Given the description of an element on the screen output the (x, y) to click on. 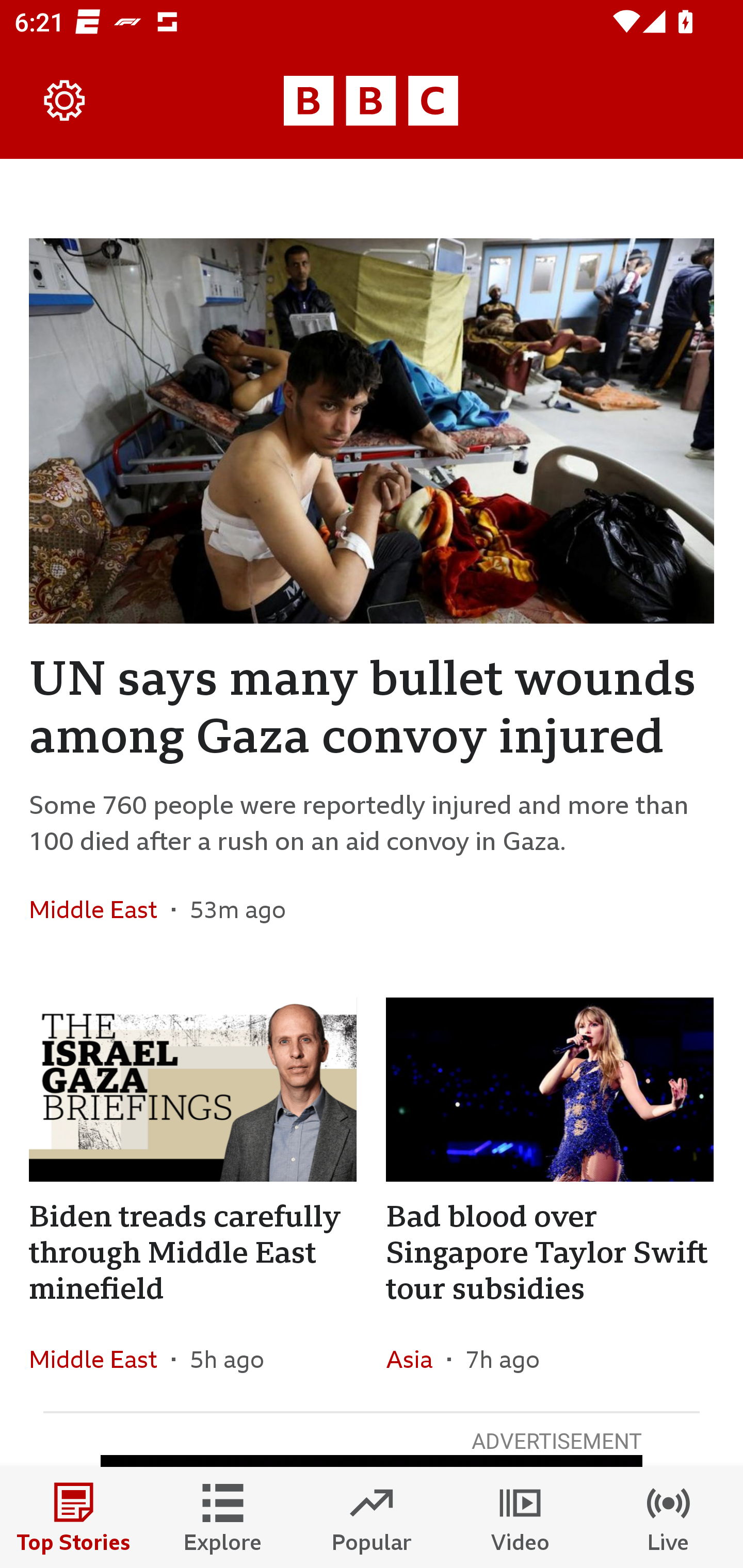
Settings (64, 100)
Middle East In the section Middle East (99, 909)
Middle East In the section Middle East (99, 1359)
Asia In the section Asia (416, 1359)
Explore (222, 1517)
Popular (371, 1517)
Video (519, 1517)
Live (668, 1517)
